Given the description of an element on the screen output the (x, y) to click on. 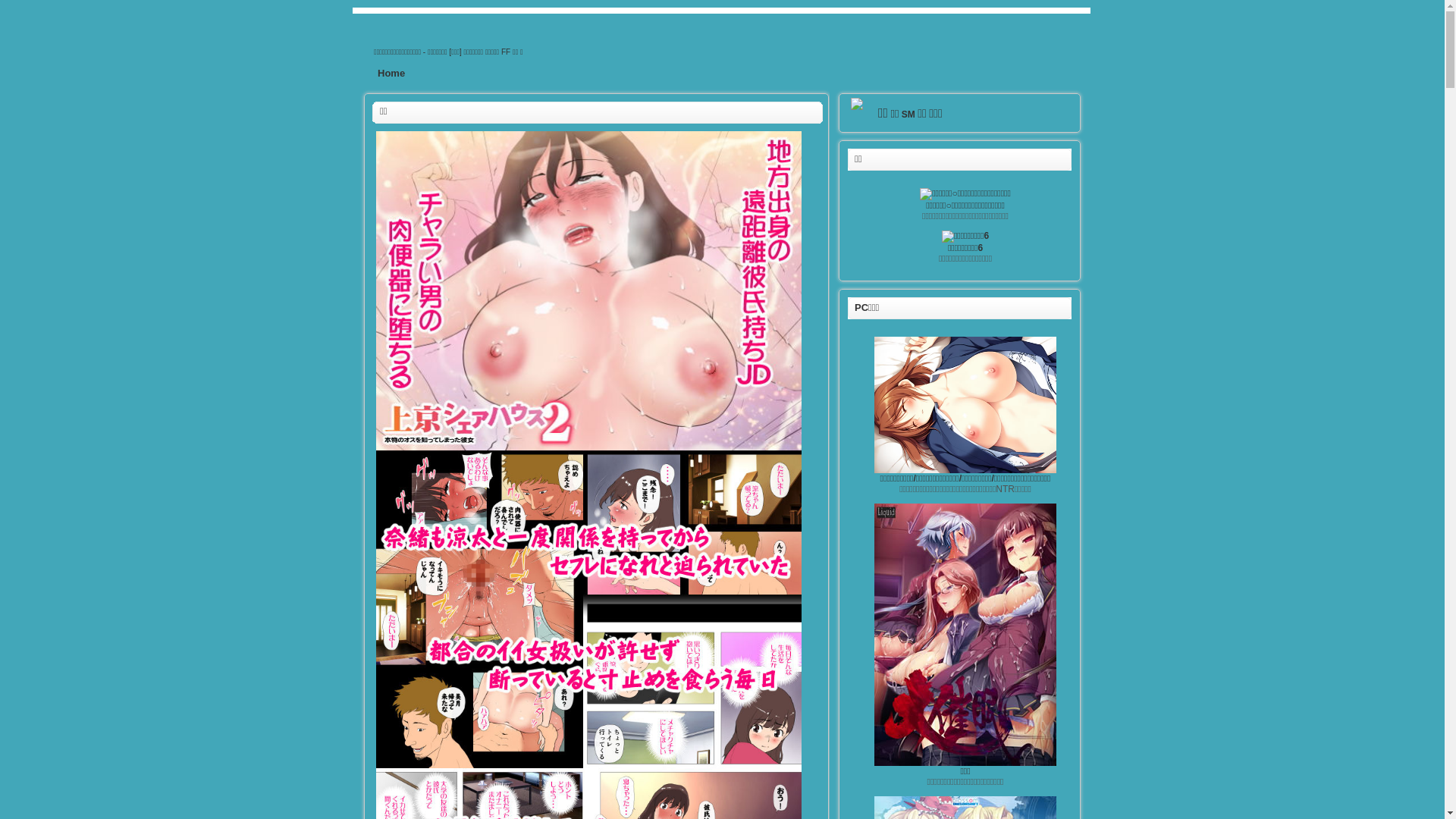
SM Element type: text (908, 114)
Home Element type: text (390, 72)
